Given the description of an element on the screen output the (x, y) to click on. 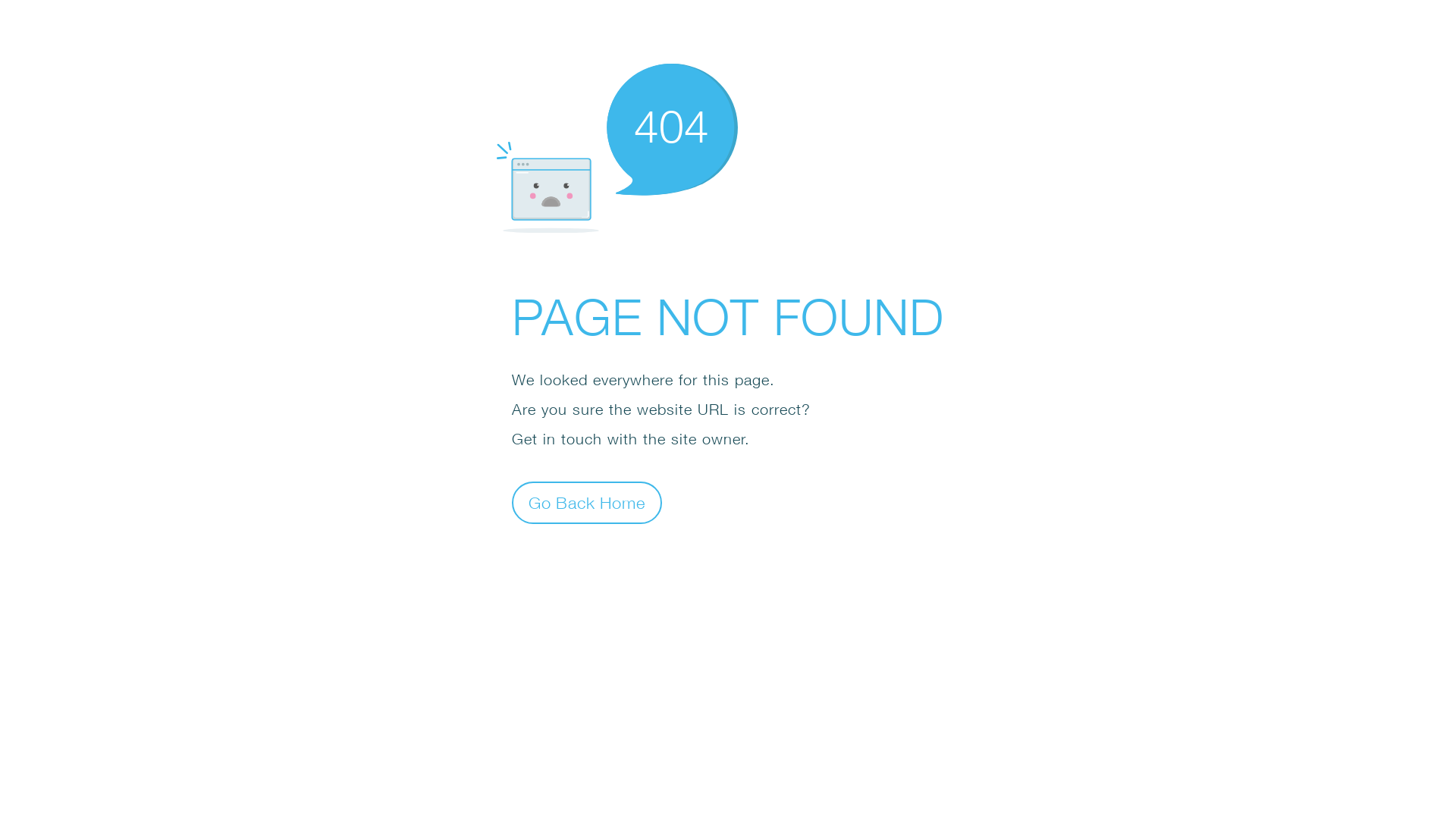
Go Back Home Element type: text (586, 502)
